Given the description of an element on the screen output the (x, y) to click on. 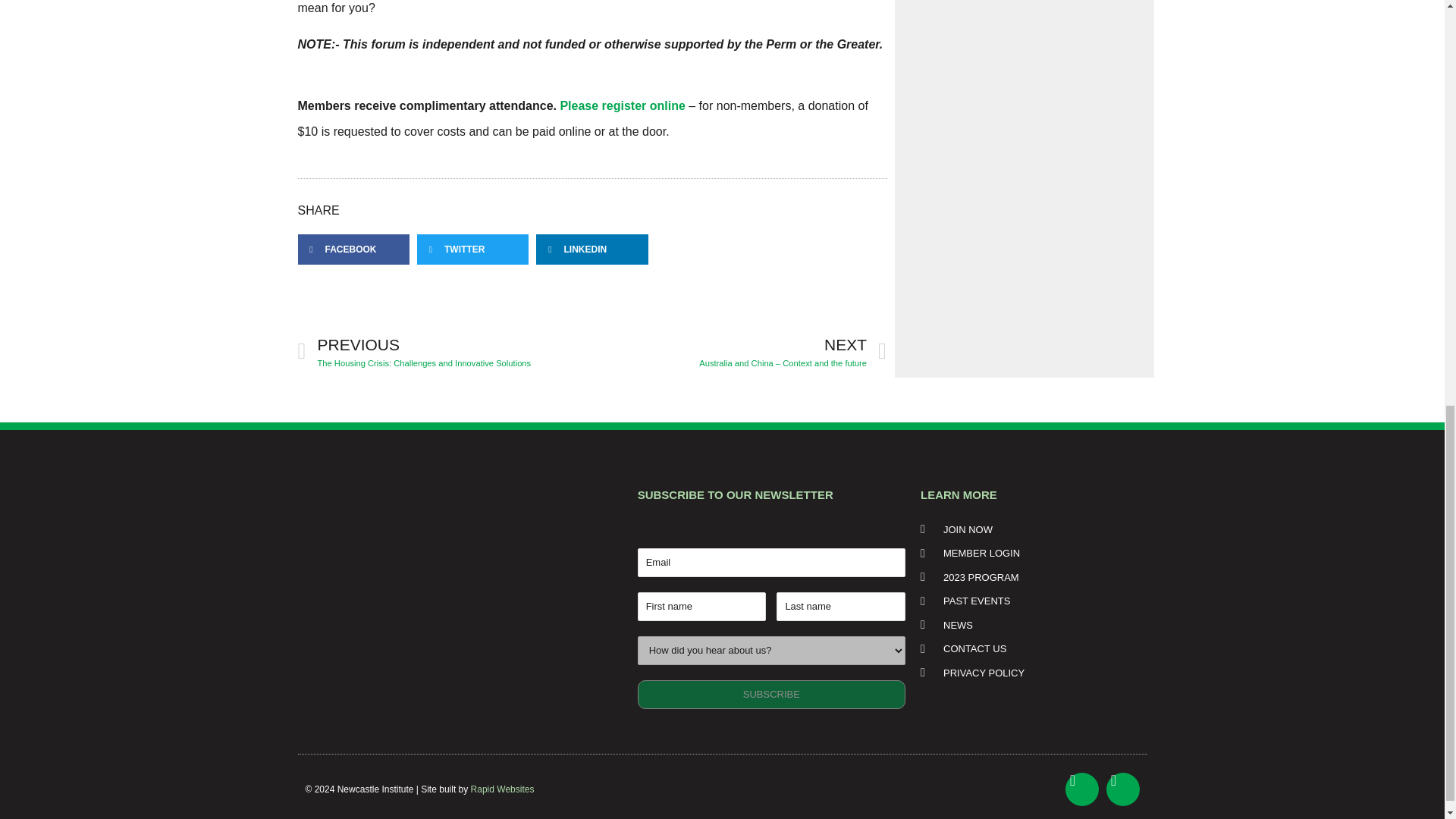
MEMBER LOGIN (1027, 553)
SUBSCRIBE (771, 694)
Rapid Websites (502, 788)
Please register online (621, 105)
PRIVACY POLICY (1027, 672)
2023 PROGRAM (1027, 577)
CONTACT US (1027, 648)
NEWS (1027, 625)
JOIN NOW (1027, 529)
